Given the description of an element on the screen output the (x, y) to click on. 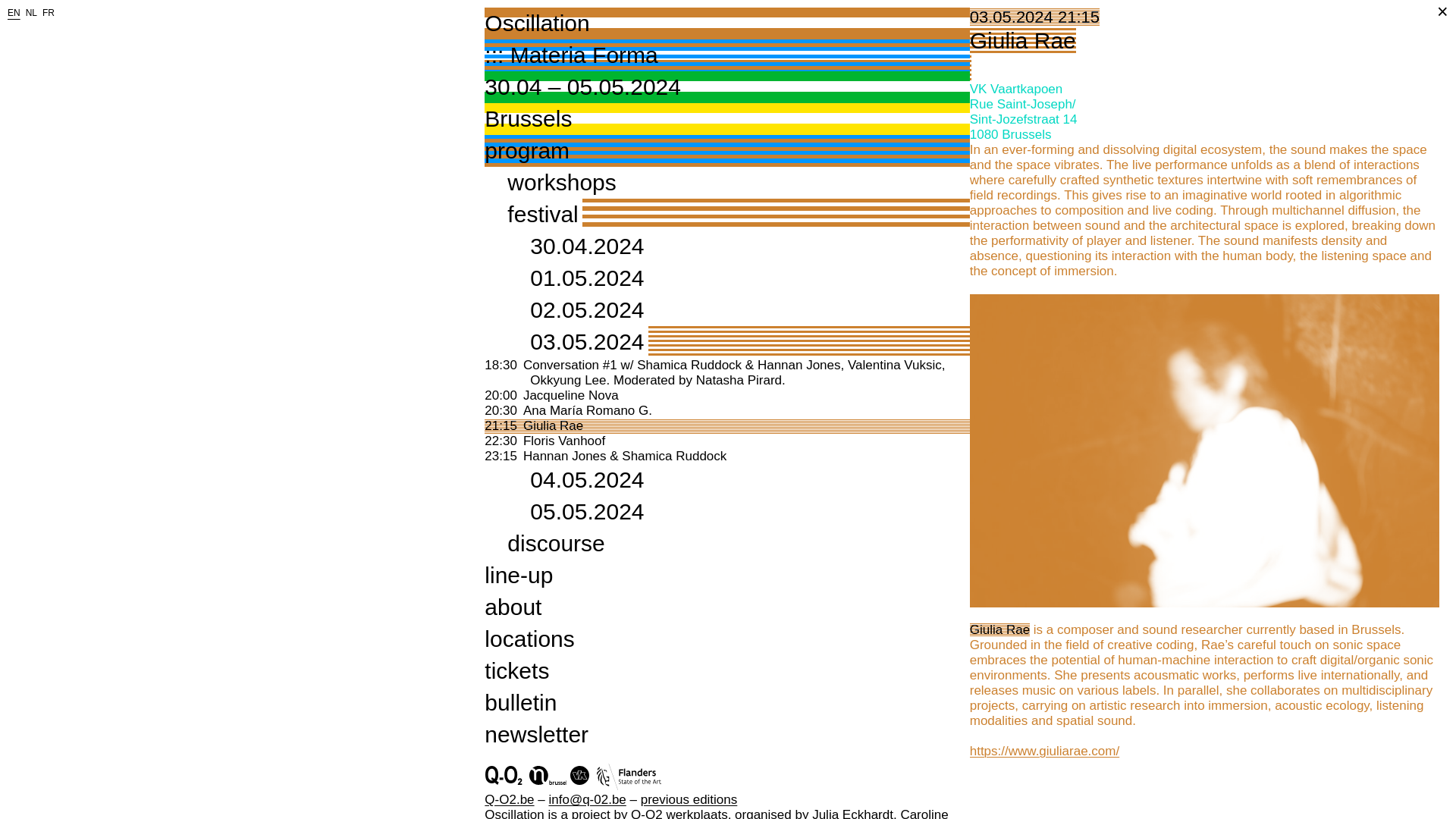
Jacqueline Nova (570, 395)
NL (31, 12)
discourse (555, 543)
Floris Vanhoof (563, 440)
Giulia Rae (552, 425)
EN (13, 12)
FR (48, 12)
